Given the description of an element on the screen output the (x, y) to click on. 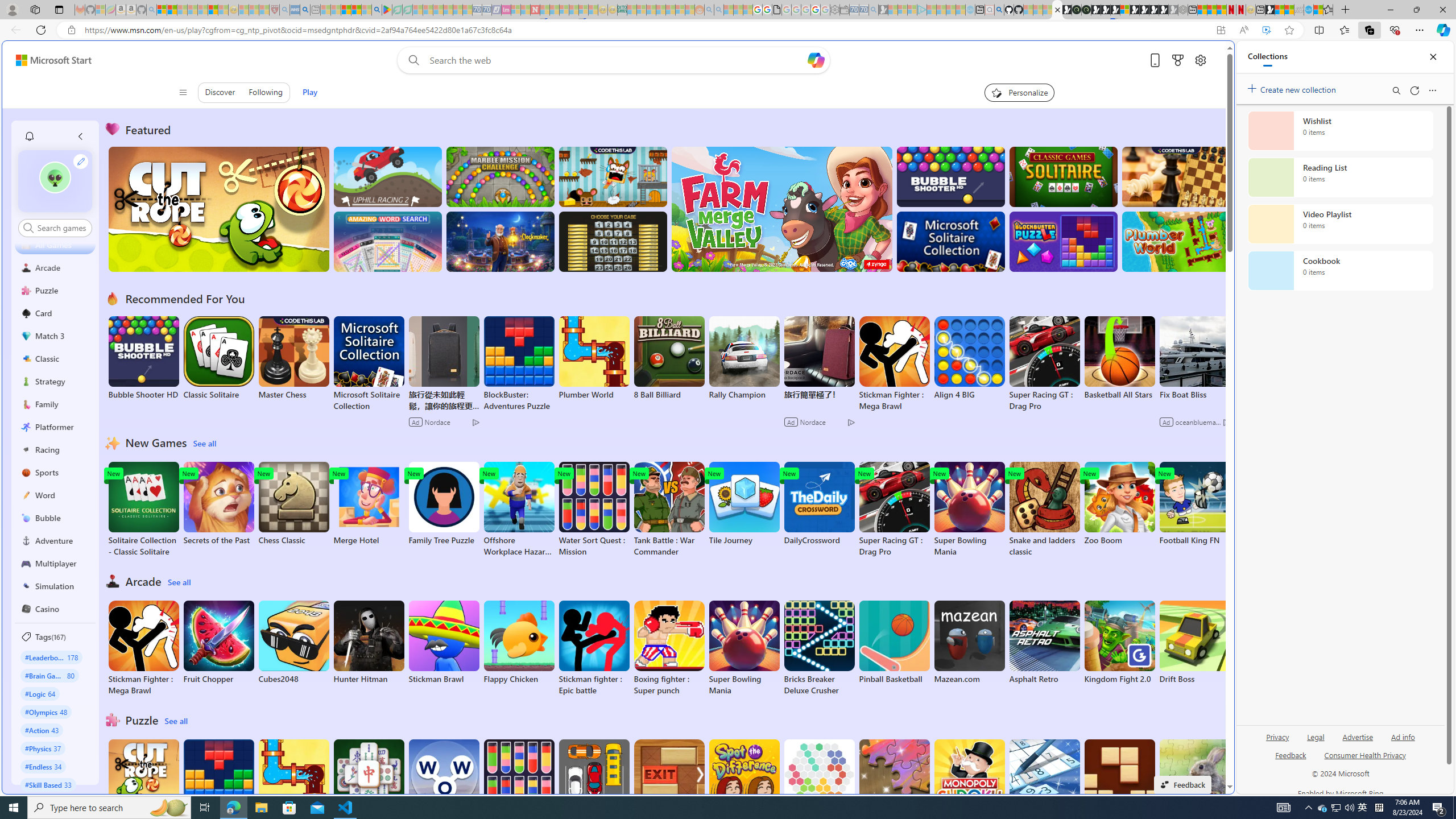
Super Racing GT : Drag Pro (894, 509)
""'s avatar (55, 177)
